Given the description of an element on the screen output the (x, y) to click on. 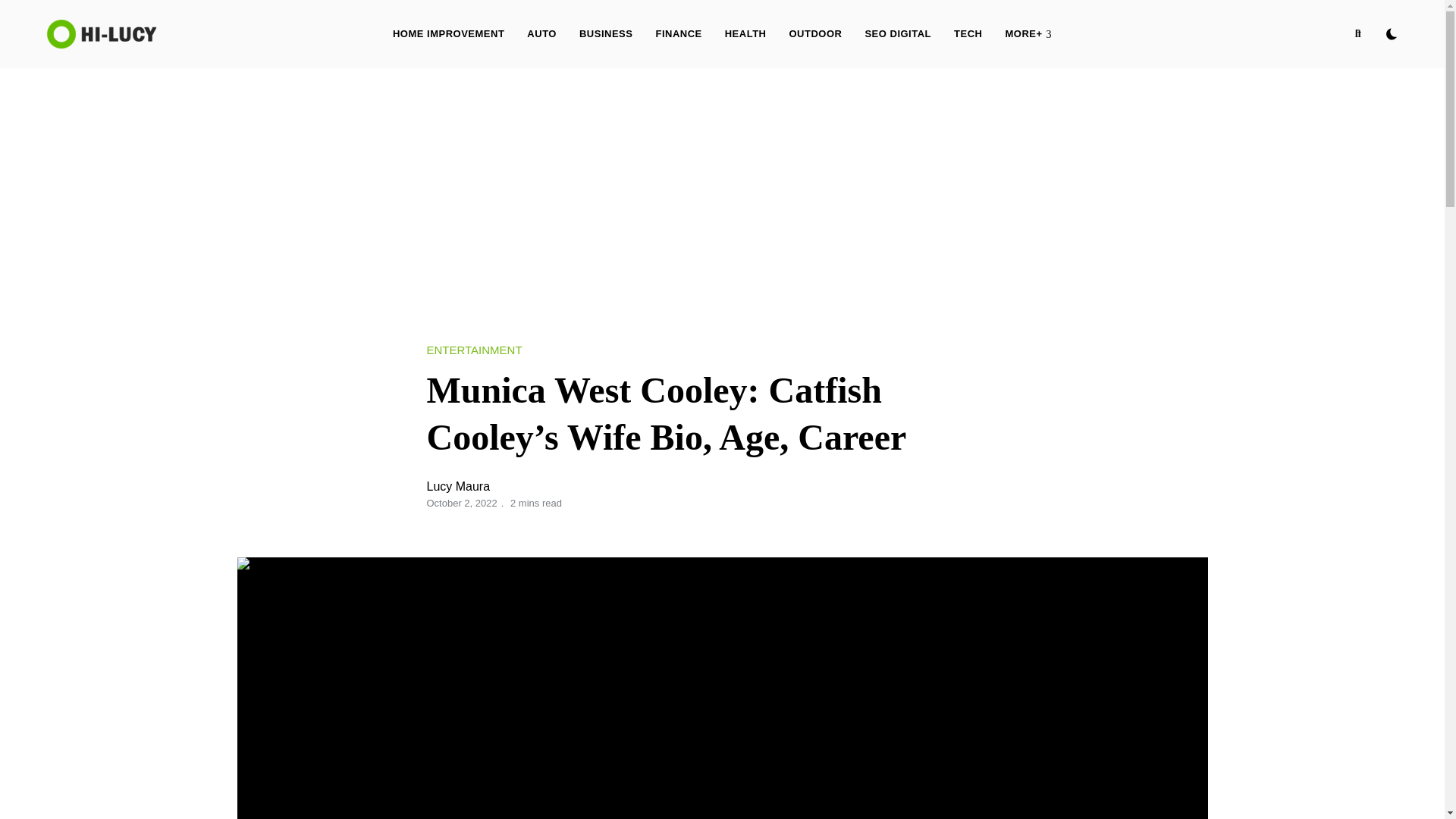
HEALTH (745, 33)
OUTDOOR (815, 33)
BUSINESS (605, 33)
SEO DIGITAL (897, 33)
ENTERTAINMENT (473, 350)
HOME IMPROVEMENT (448, 33)
Lucy Maura (457, 486)
FINANCE (678, 33)
